Given the description of an element on the screen output the (x, y) to click on. 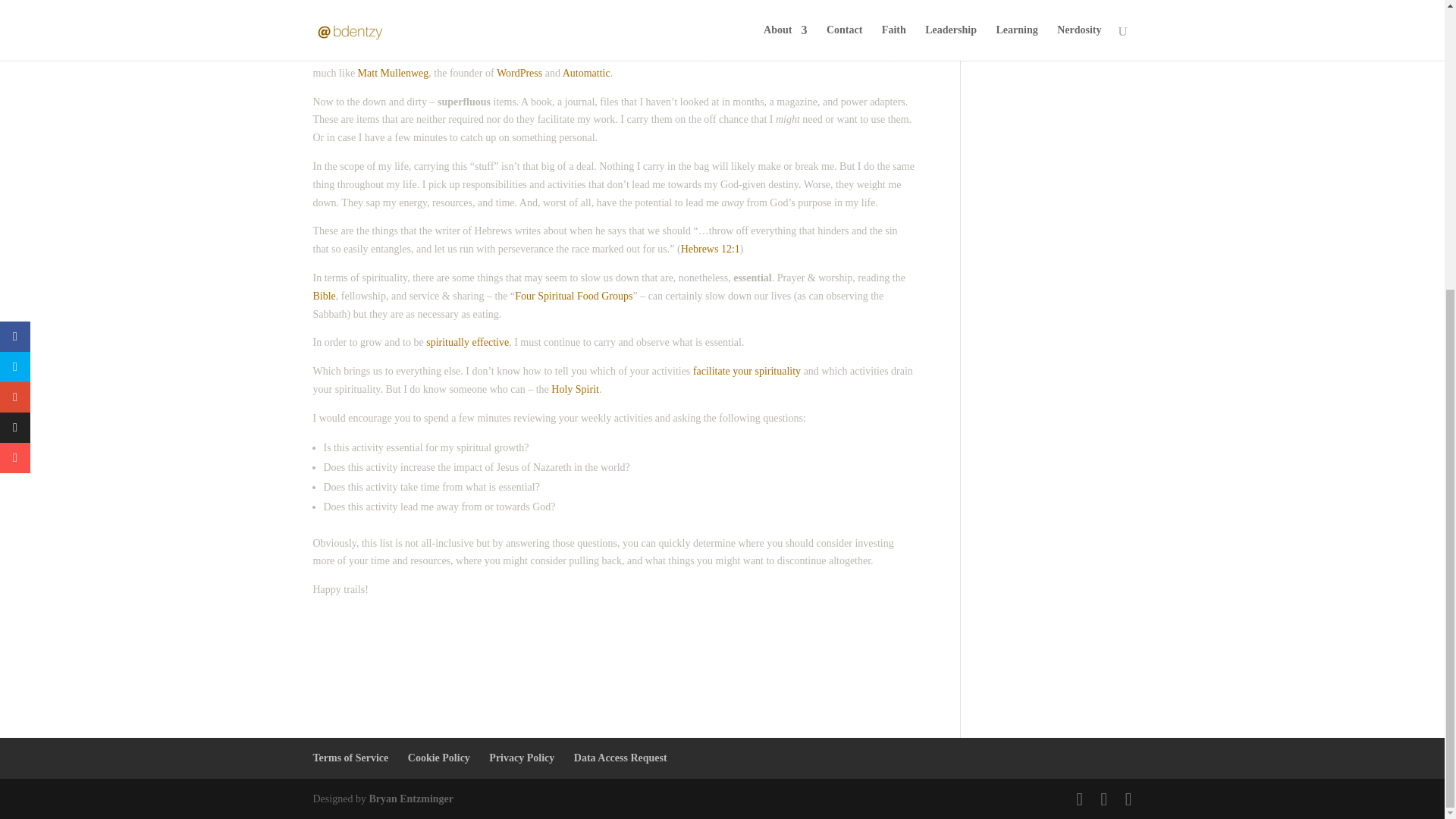
Automattic (586, 72)
Cookie Policy (438, 757)
Holy Spirit (574, 389)
Privacy Policy (521, 757)
spiritually effective (467, 342)
open office environment (440, 18)
Bible (323, 296)
Holy Spirit (574, 389)
degrade my ability to concentrate (614, 36)
Matt Mullenweg (393, 72)
